Given the description of an element on the screen output the (x, y) to click on. 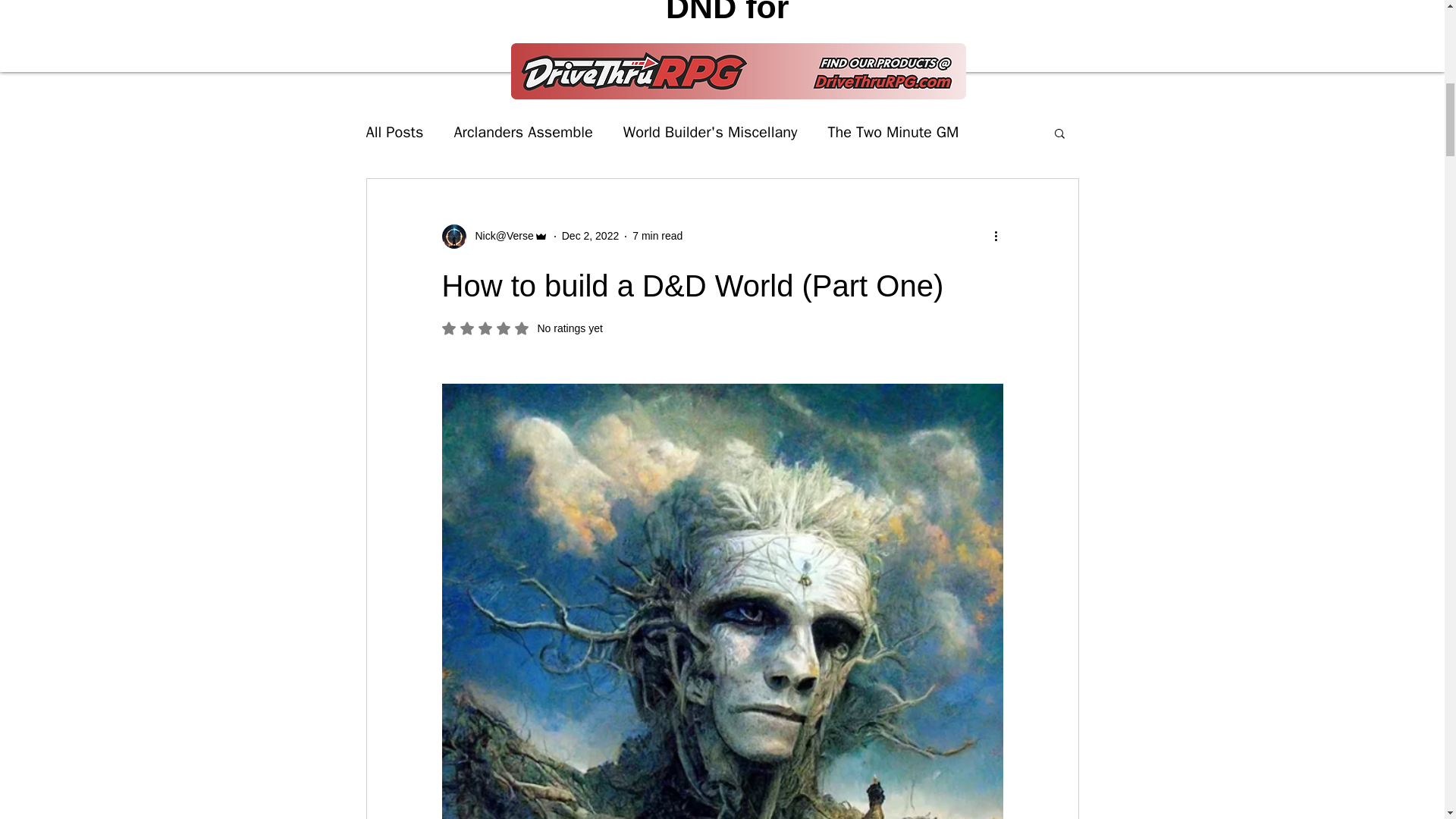
Arclanders Assemble (522, 132)
7 min read (656, 235)
All Posts (394, 132)
Dec 2, 2022 (591, 235)
World Builder's Miscellany (710, 132)
The Two Minute GM (521, 327)
